Given the description of an element on the screen output the (x, y) to click on. 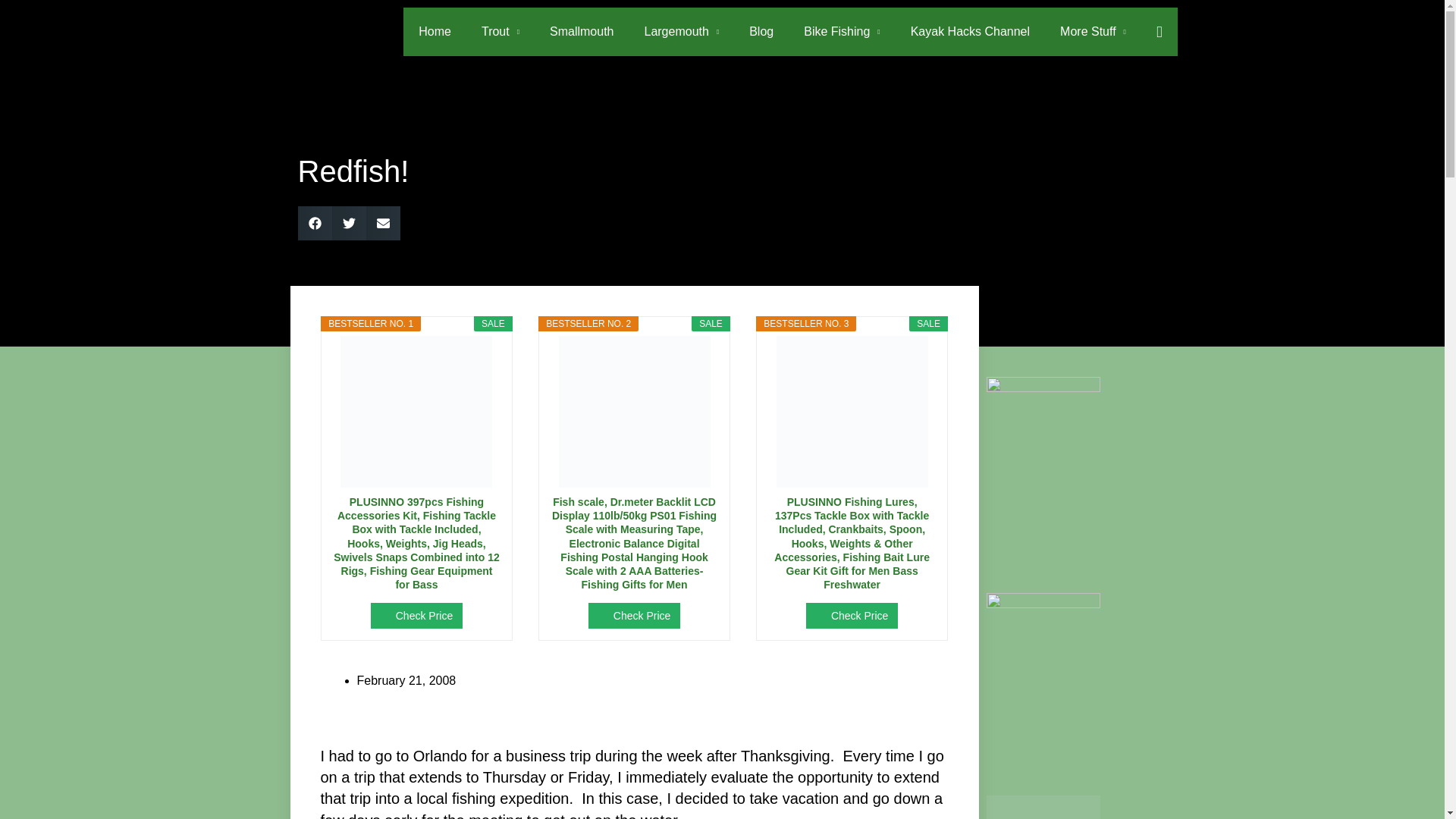
Largemouth (680, 31)
Bike Fishing (842, 31)
Check Price (417, 615)
Smallmouth (581, 31)
More Stuff (1093, 31)
Home (434, 31)
Check Price (633, 615)
Blog (761, 31)
